Given the description of an element on the screen output the (x, y) to click on. 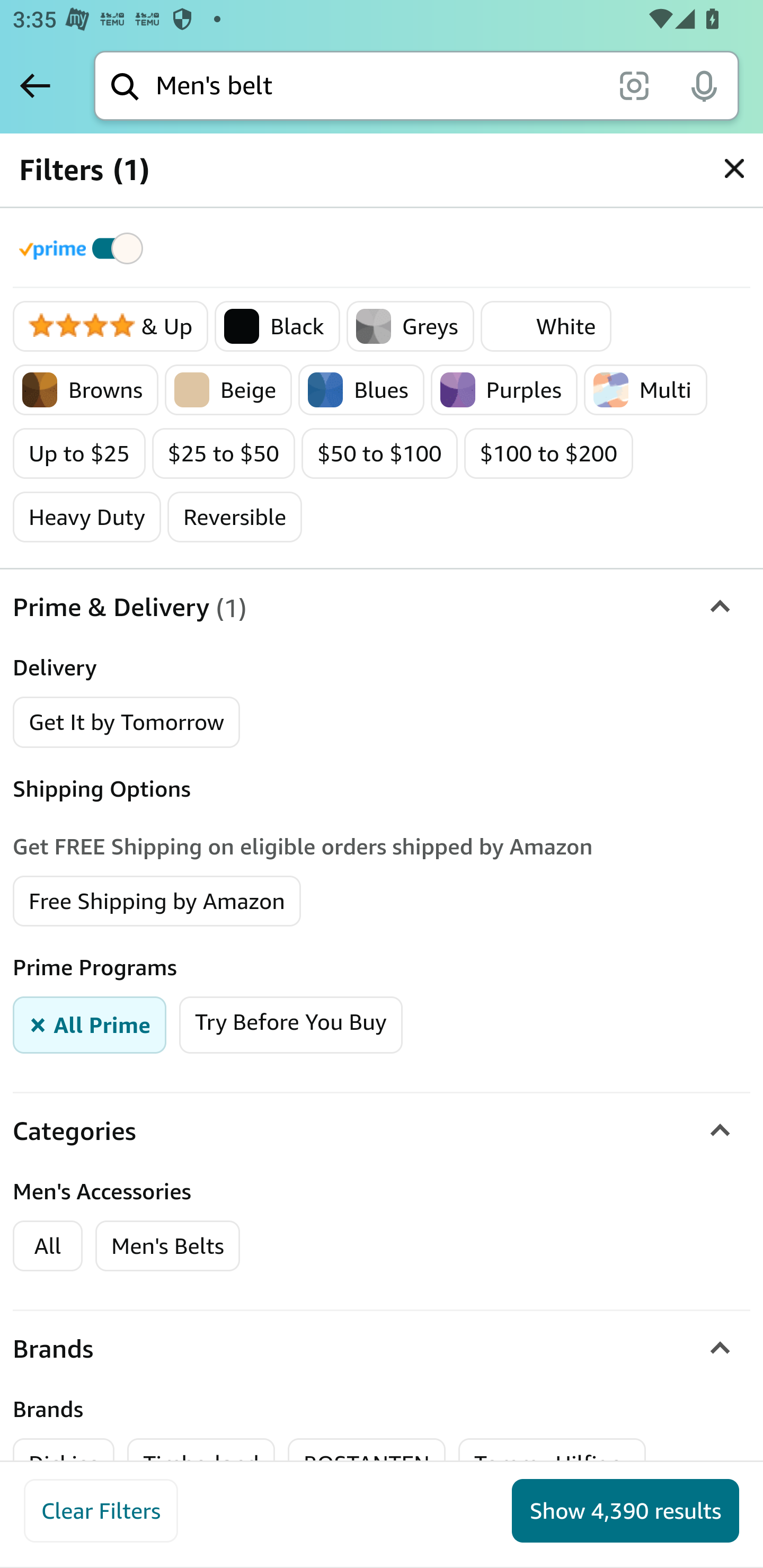
Back (35, 85)
scan it (633, 85)
Toggle to filter by Prime products Prime Eligible (83, 247)
4 Stars & Up (110, 326)
Black Black Black Black (277, 326)
Greys Greys Greys Greys (409, 326)
White White White White (545, 326)
Browns Browns Browns Browns (85, 390)
Beige Beige Beige Beige (228, 390)
Blues Blues Blues Blues (360, 390)
Purples Purples Purples Purples (503, 390)
Multi Multi Multi Multi (645, 390)
Up to $25 (79, 453)
$25 to $50 (223, 453)
$50 to $100 (378, 453)
$100 to $200 (548, 453)
Heavy Duty (86, 517)
Reversible (235, 517)
Prime & Delivery (1) (381, 607)
Get It by Tomorrow (126, 721)
× All Prime × All Prime (89, 1023)
Try Before You Buy (290, 1023)
Categories (381, 1130)
All (47, 1244)
Men's Belts (167, 1244)
Brands (381, 1348)
Clear Filters (100, 1510)
Show 4,390 results (625, 1510)
